Given the description of an element on the screen output the (x, y) to click on. 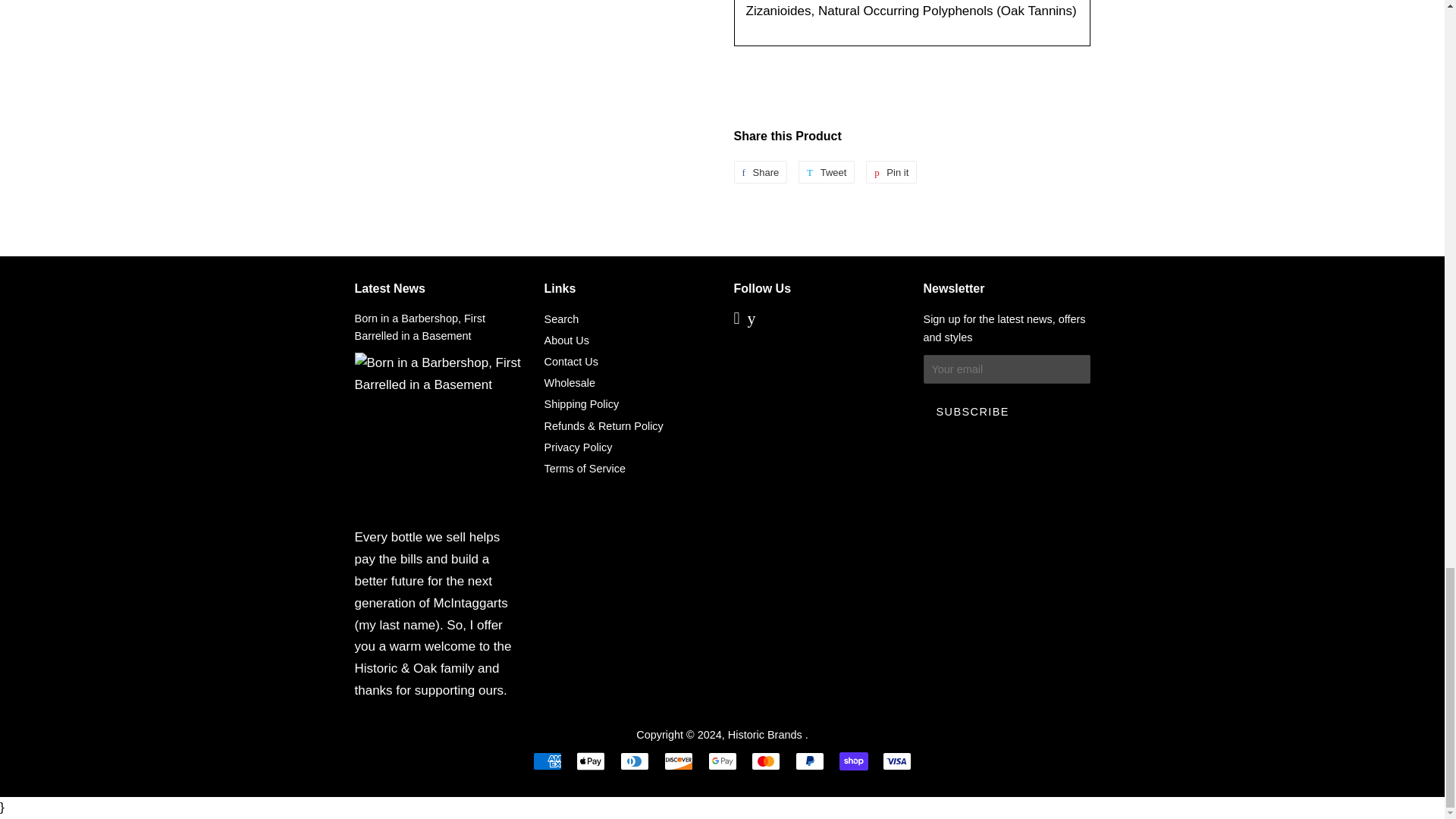
Pin on Pinterest (891, 171)
About Us (566, 340)
Diners Club (634, 761)
Share on Facebook (760, 171)
Wholesale (569, 382)
Visa (896, 761)
Tweet on Twitter (891, 171)
Mastercard (825, 171)
Latest News (765, 761)
